Given the description of an element on the screen output the (x, y) to click on. 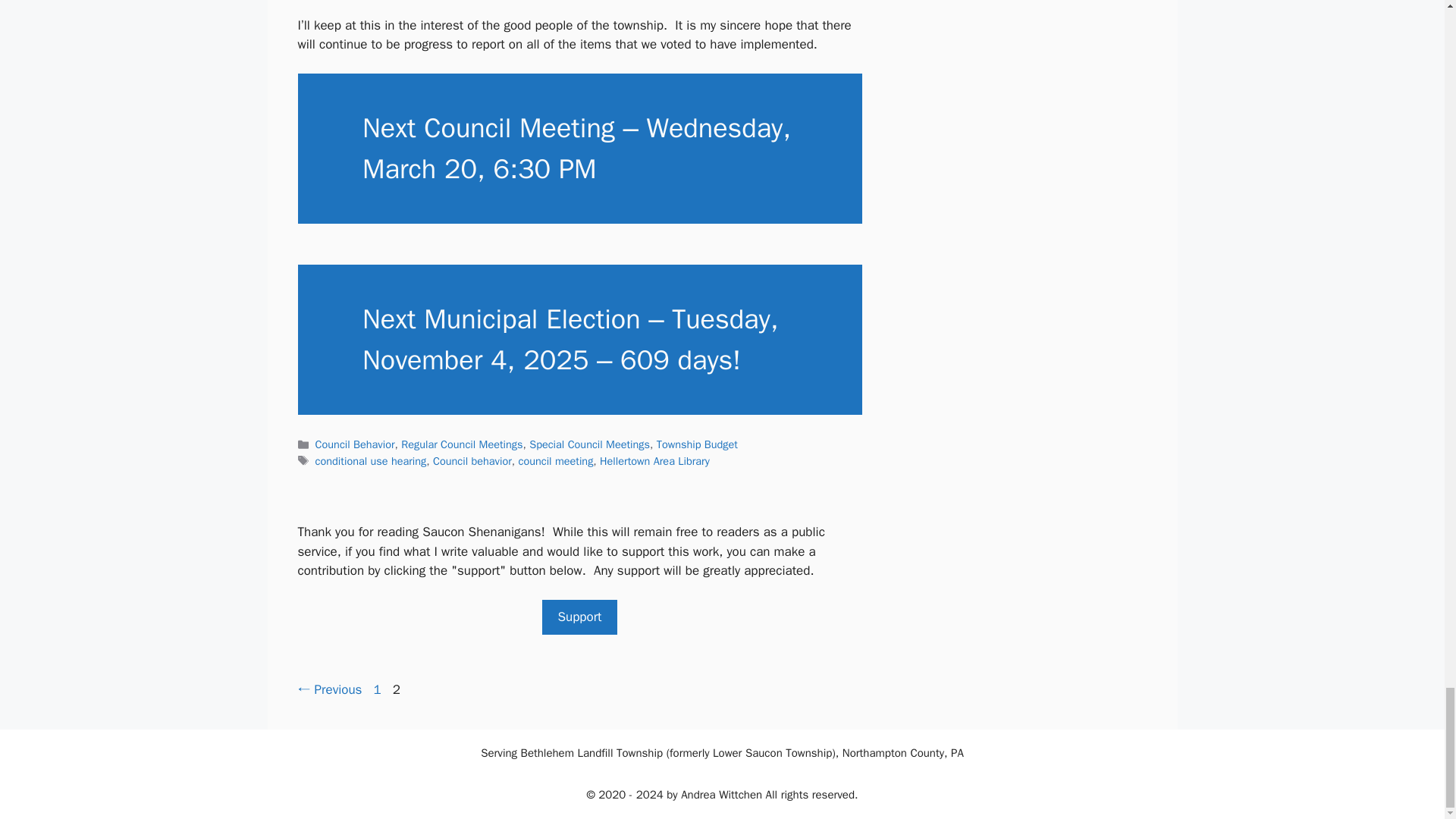
Special Council Meetings (589, 444)
Hellertown Area Library (654, 460)
Township Budget (697, 444)
Support (578, 616)
Regular Council Meetings (461, 444)
council meeting (555, 460)
conditional use hearing (370, 460)
Council behavior (377, 689)
Council Behavior (472, 460)
